Given the description of an element on the screen output the (x, y) to click on. 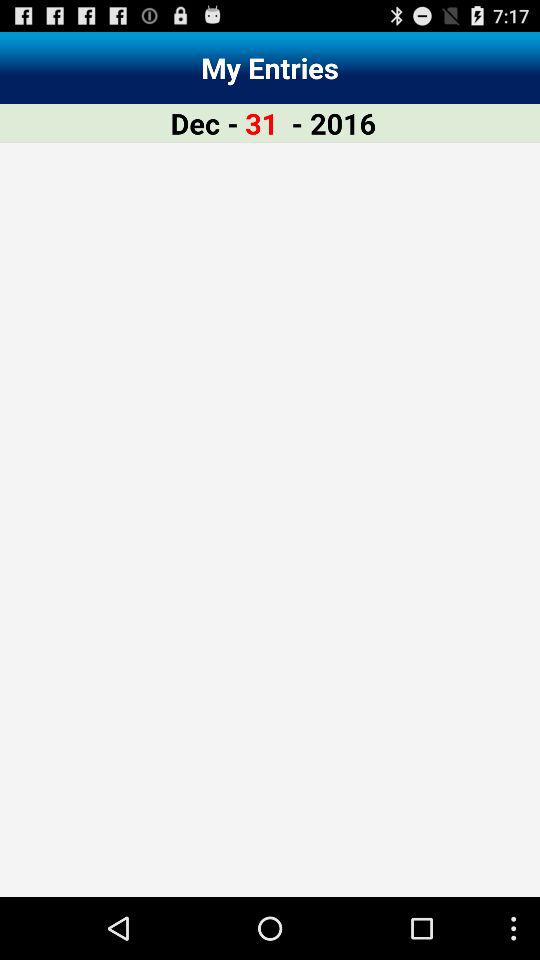
turn on the item to the left of the 31 item (204, 122)
